Given the description of an element on the screen output the (x, y) to click on. 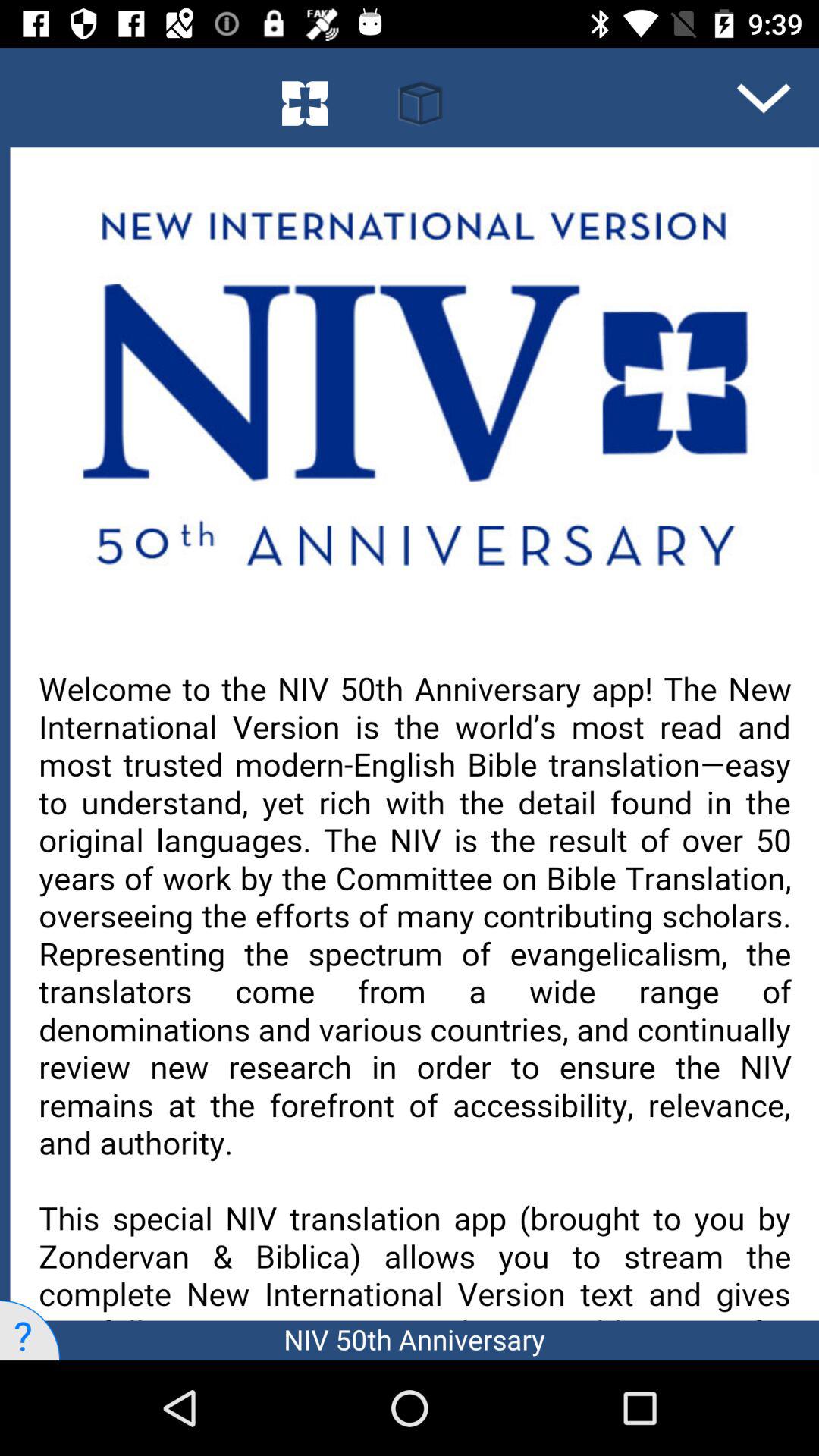
click the logo left to cube symbol (304, 98)
